Given the description of an element on the screen output the (x, y) to click on. 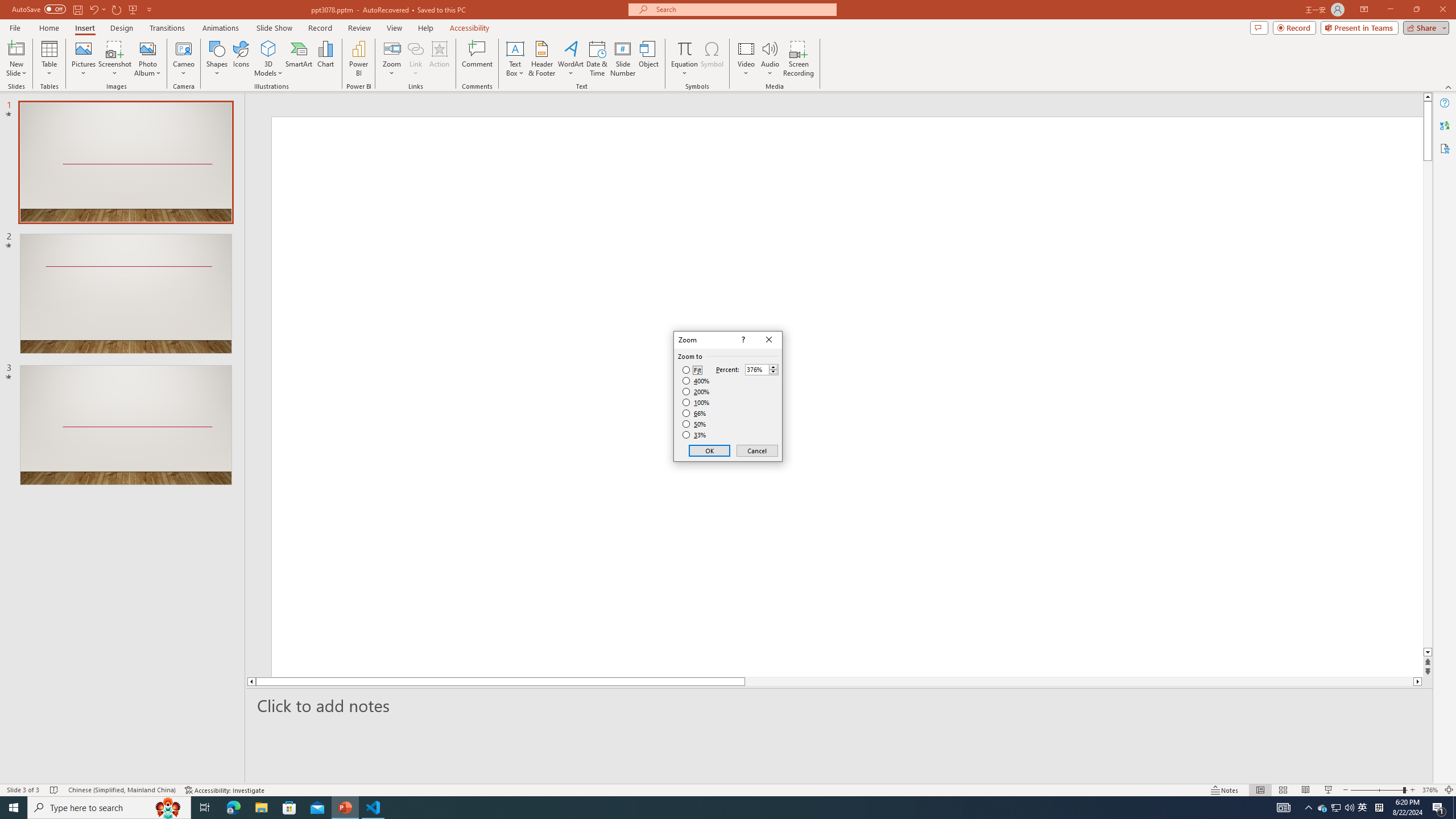
400% (696, 380)
100% (696, 402)
Type here to search (108, 807)
3D Models (268, 58)
50% (694, 424)
Symbol... (711, 58)
Percent (756, 369)
Start (13, 807)
33% (694, 434)
